Given the description of an element on the screen output the (x, y) to click on. 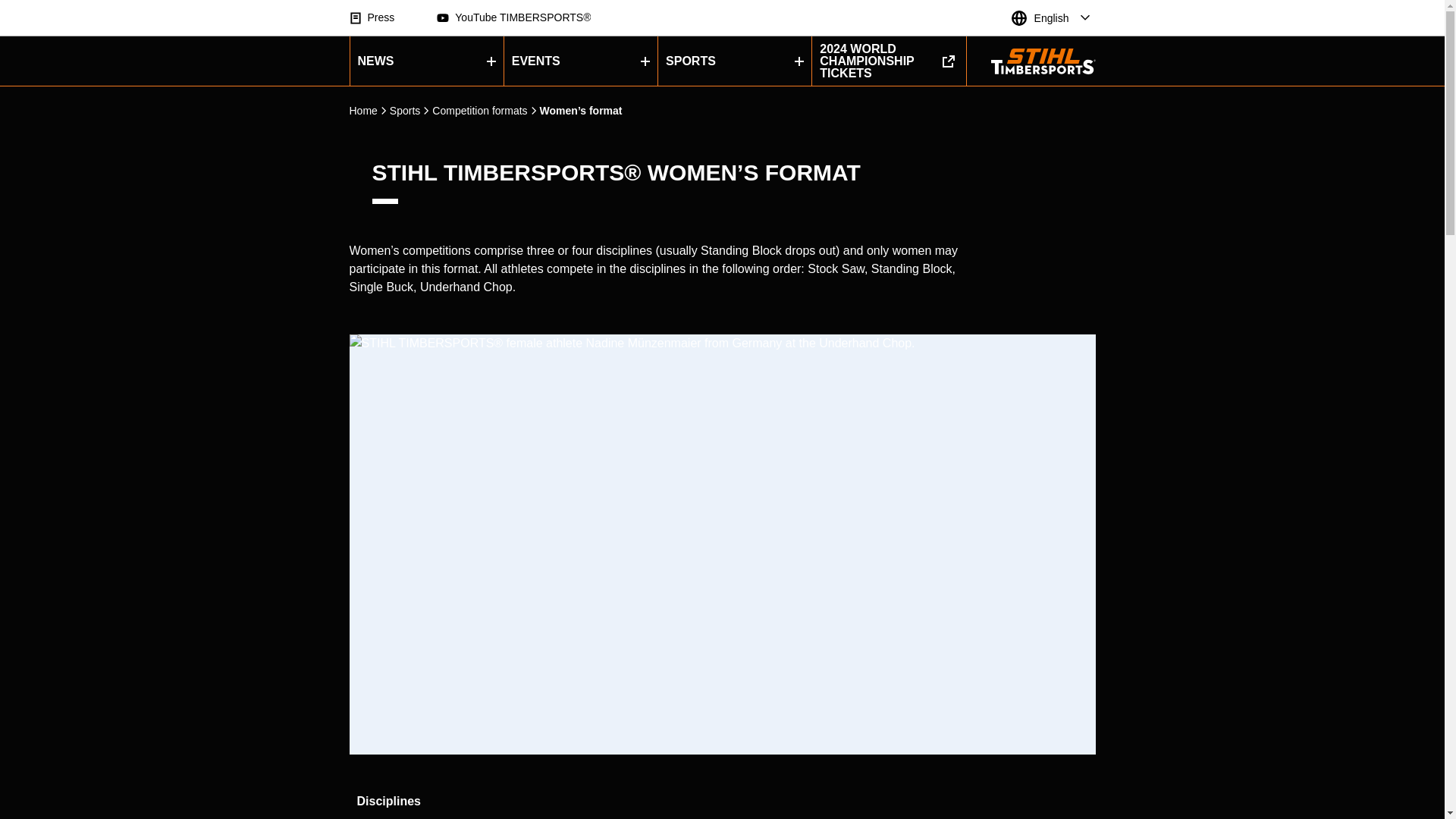
Press (371, 17)
SPORTS (734, 60)
EVENTS (580, 60)
English (1051, 18)
NEWS (427, 60)
